Given the description of an element on the screen output the (x, y) to click on. 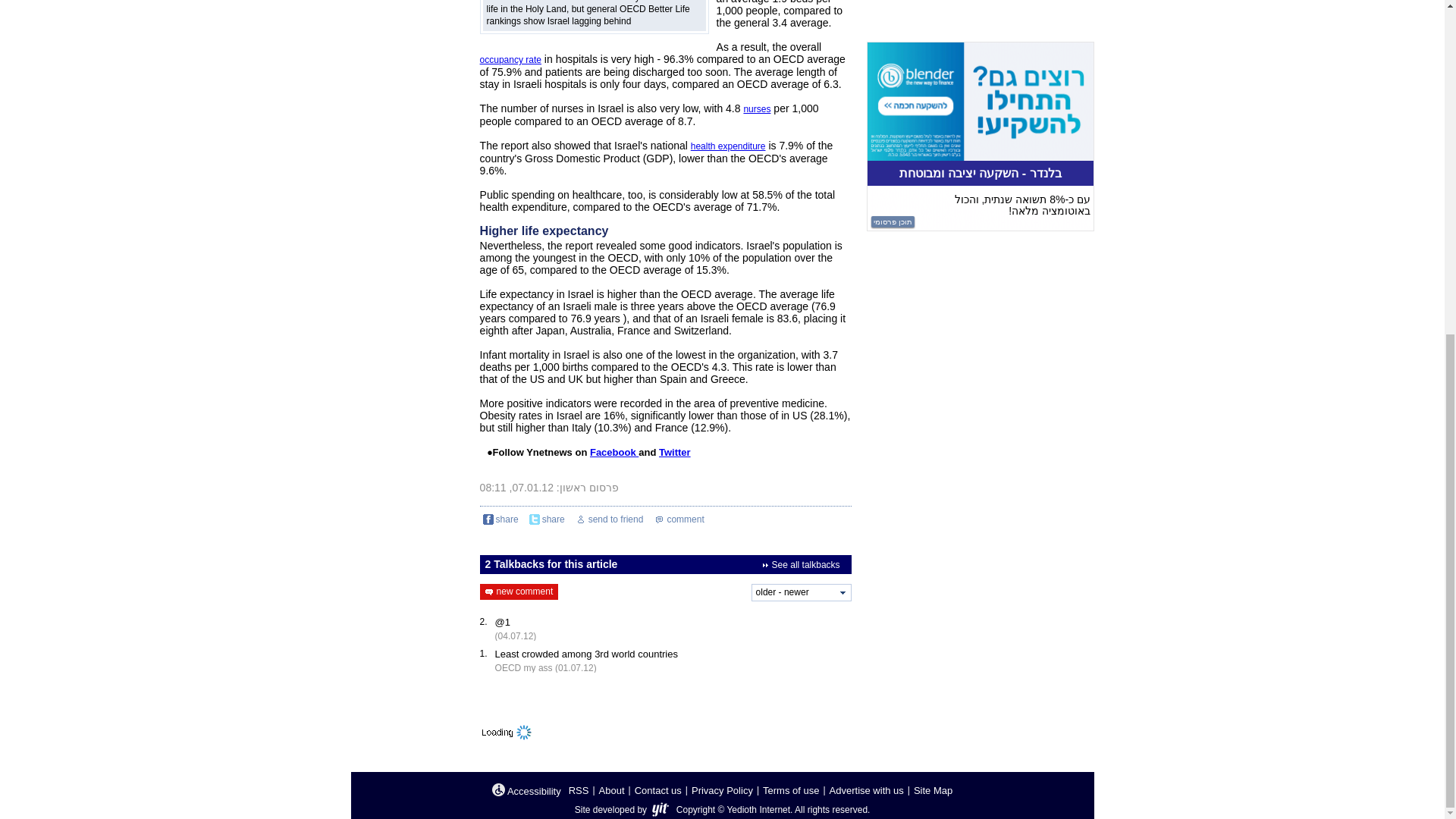
3rd party ad content (980, 135)
